Given the description of an element on the screen output the (x, y) to click on. 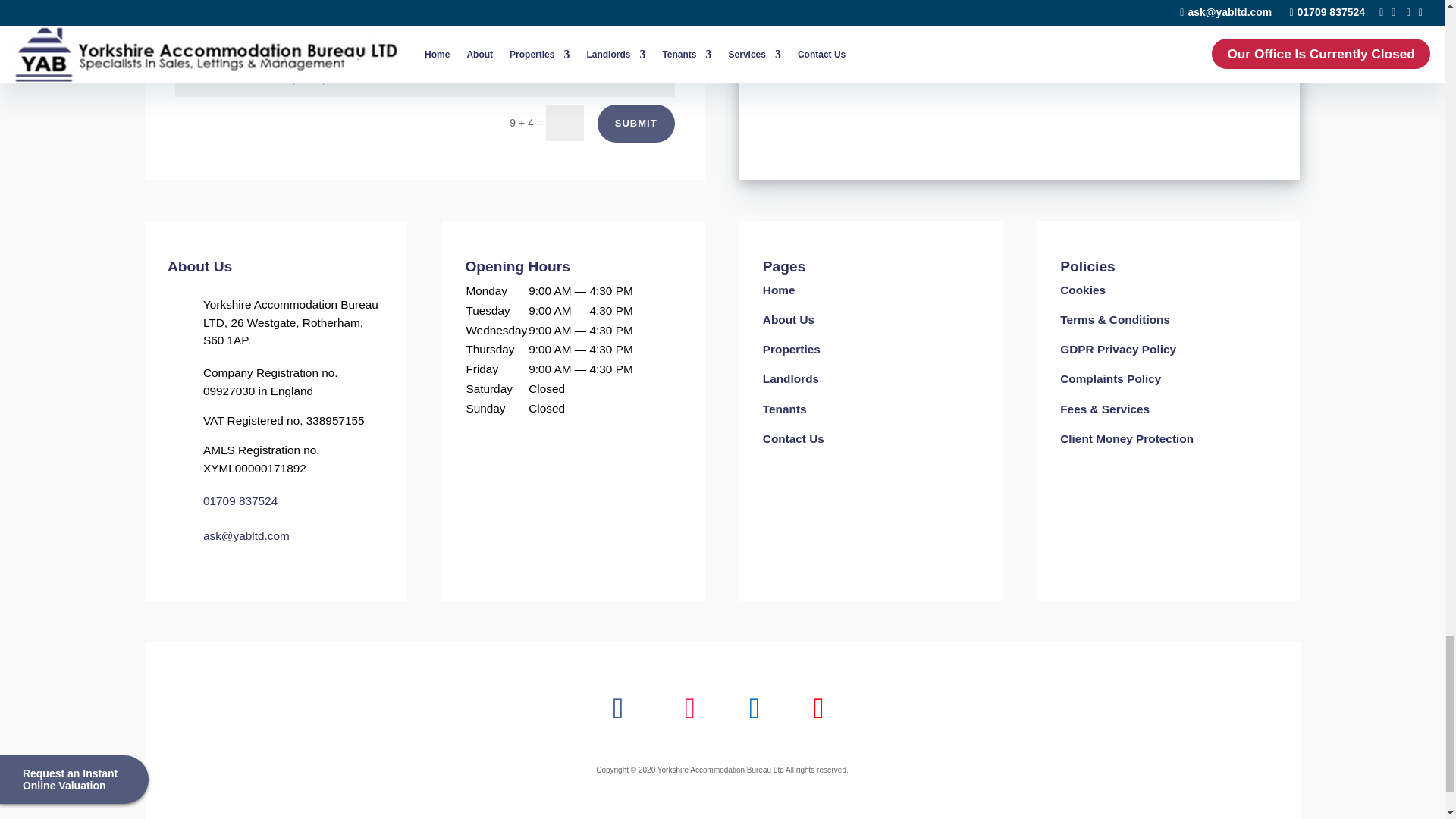
Follow on Instagram (690, 708)
Follow on Facebook (618, 708)
Follow on X (754, 708)
Follow on Youtube (818, 708)
